Given the description of an element on the screen output the (x, y) to click on. 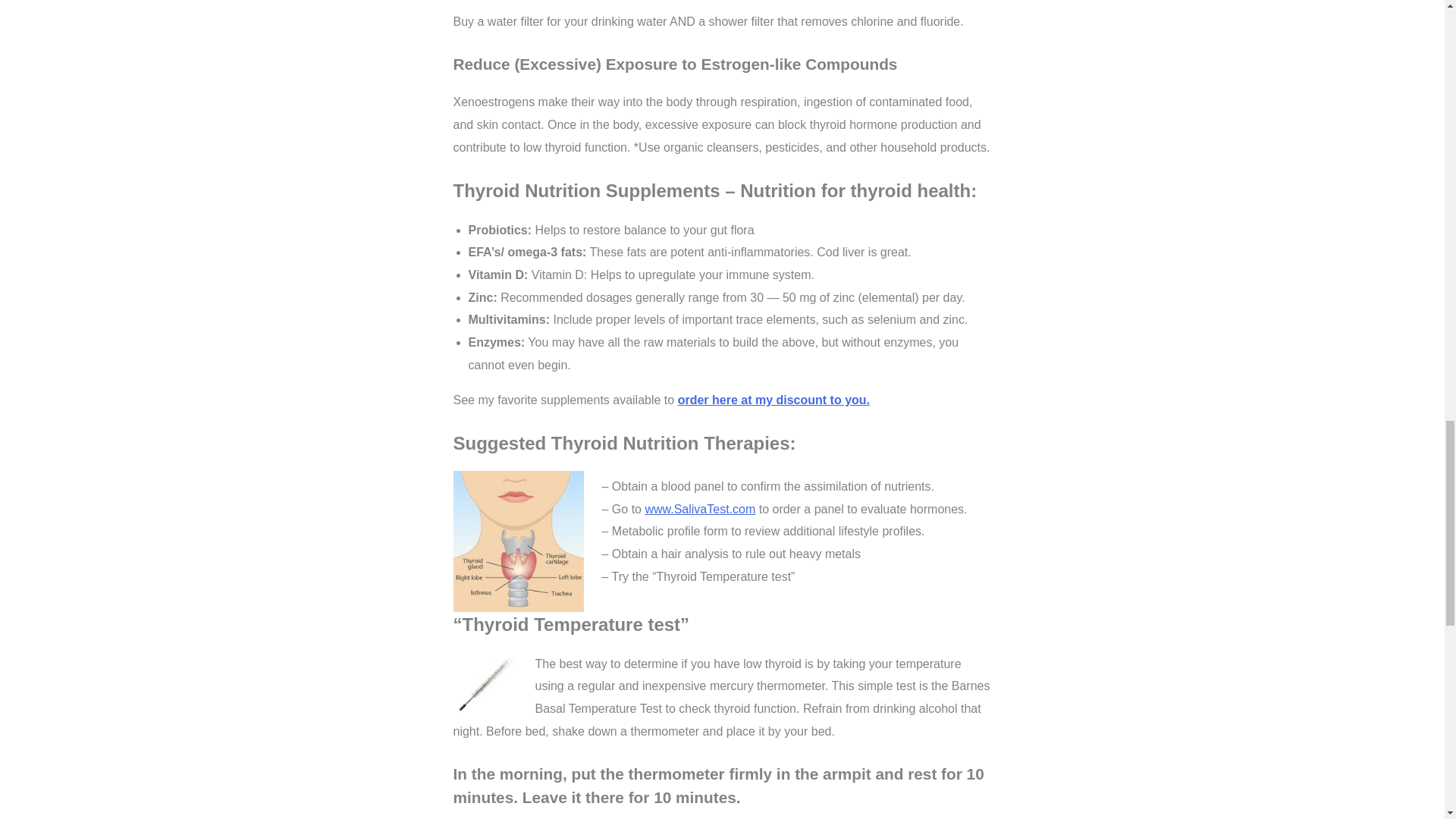
Thyroid Nutrition 4 (484, 684)
Thyroid Nutrition 3 (517, 540)
